Given the description of an element on the screen output the (x, y) to click on. 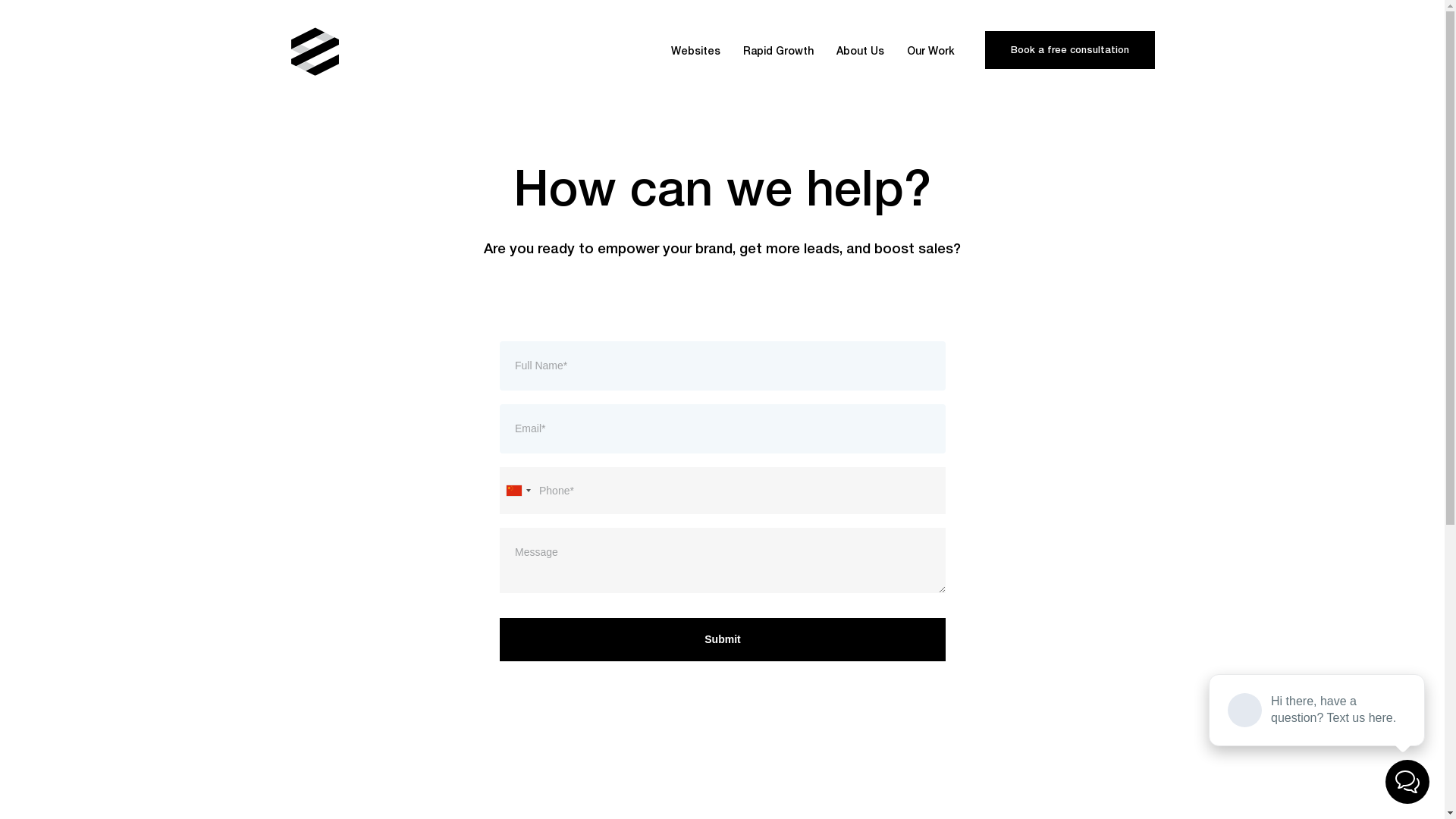
About Us Element type: text (859, 51)
Book a free consultation Element type: text (1069, 51)
Websites Element type: text (694, 51)
Our Work Element type: text (930, 51)
Rapid Growth Element type: text (778, 51)
